Given the description of an element on the screen output the (x, y) to click on. 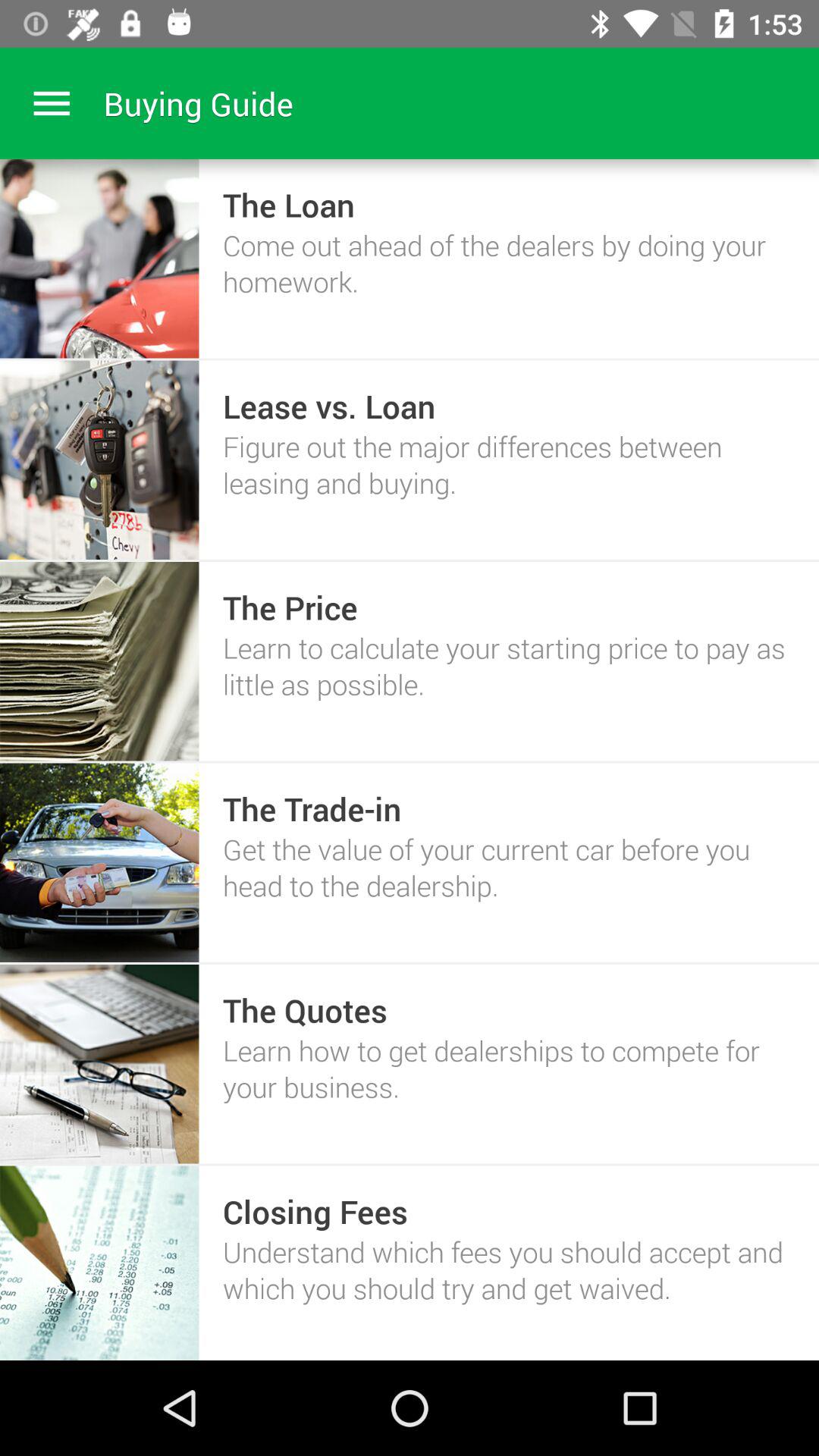
flip to the lease vs. loan icon (328, 405)
